Given the description of an element on the screen output the (x, y) to click on. 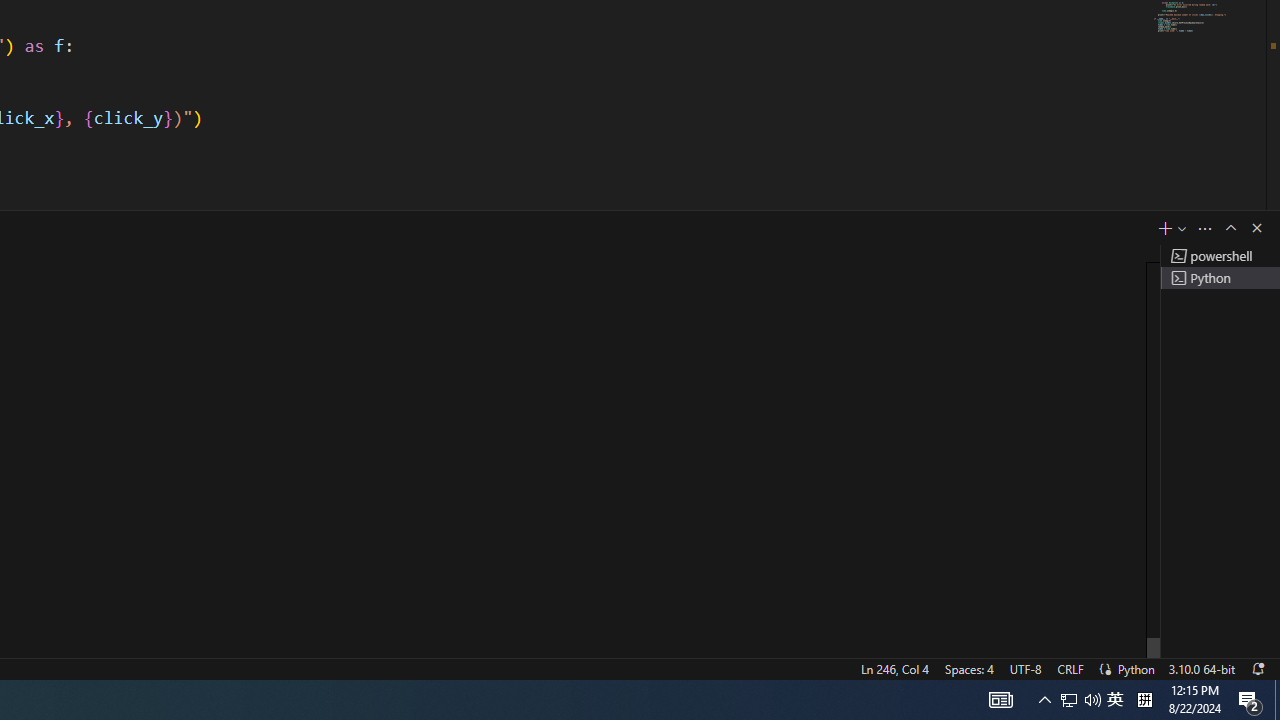
Python (1135, 668)
